Given the description of an element on the screen output the (x, y) to click on. 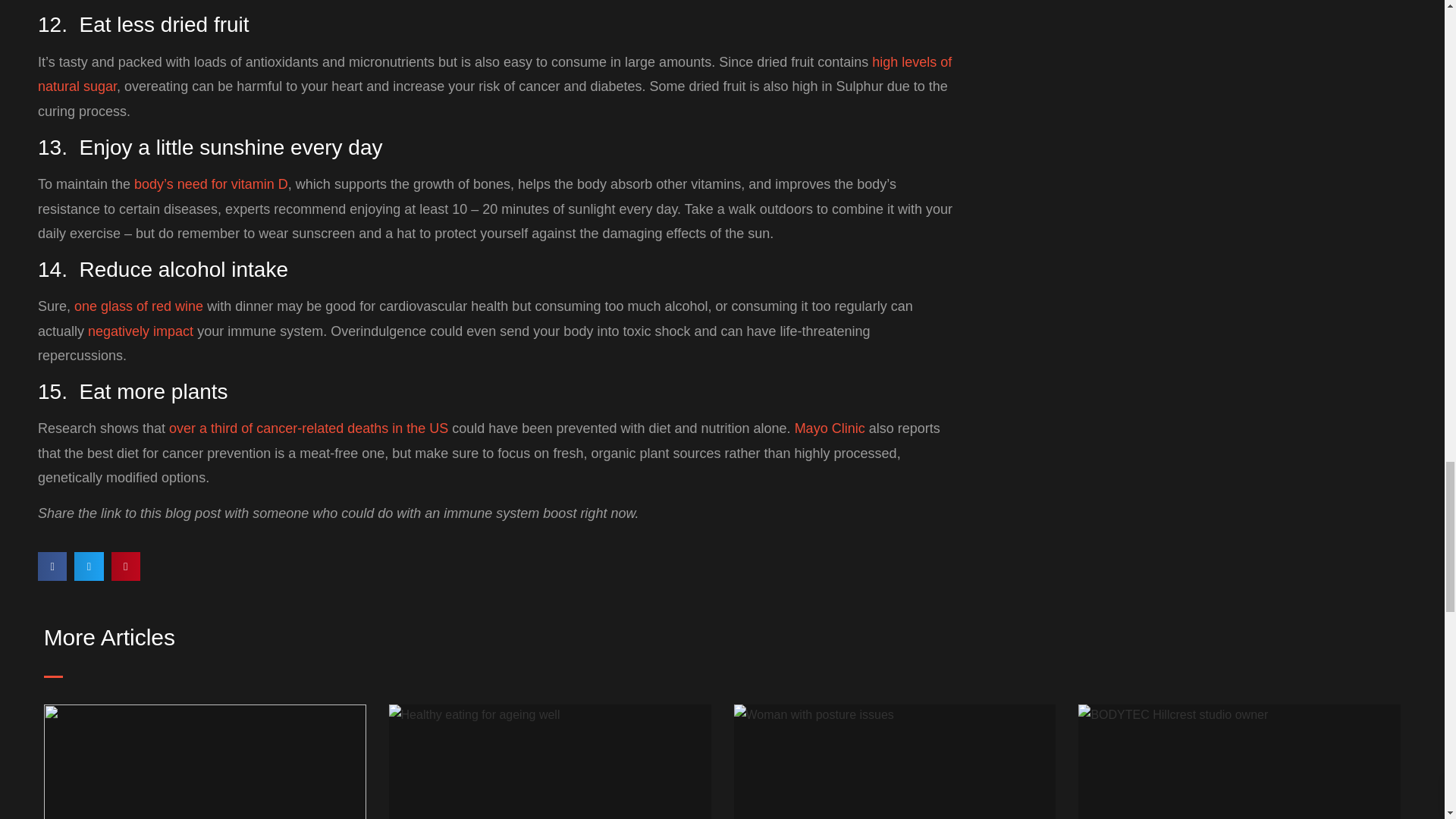
Mayo Clinic (829, 427)
negatively impact (140, 331)
high levels of natural sugar (494, 74)
over a third of cancer-related deaths in the US (308, 427)
one glass of red wine (138, 305)
